Given the description of an element on the screen output the (x, y) to click on. 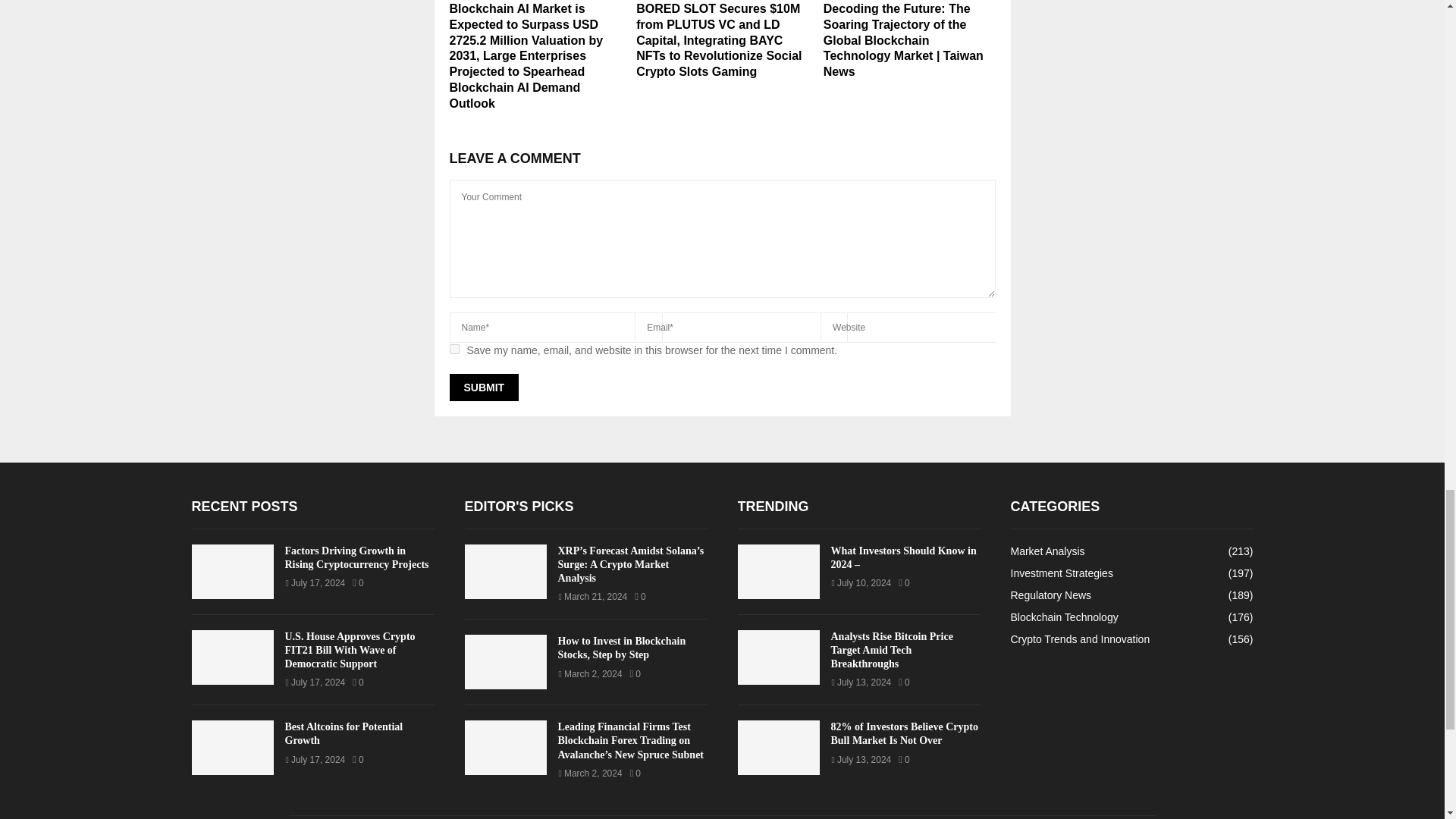
Submit (483, 387)
yes (453, 348)
